Given the description of an element on the screen output the (x, y) to click on. 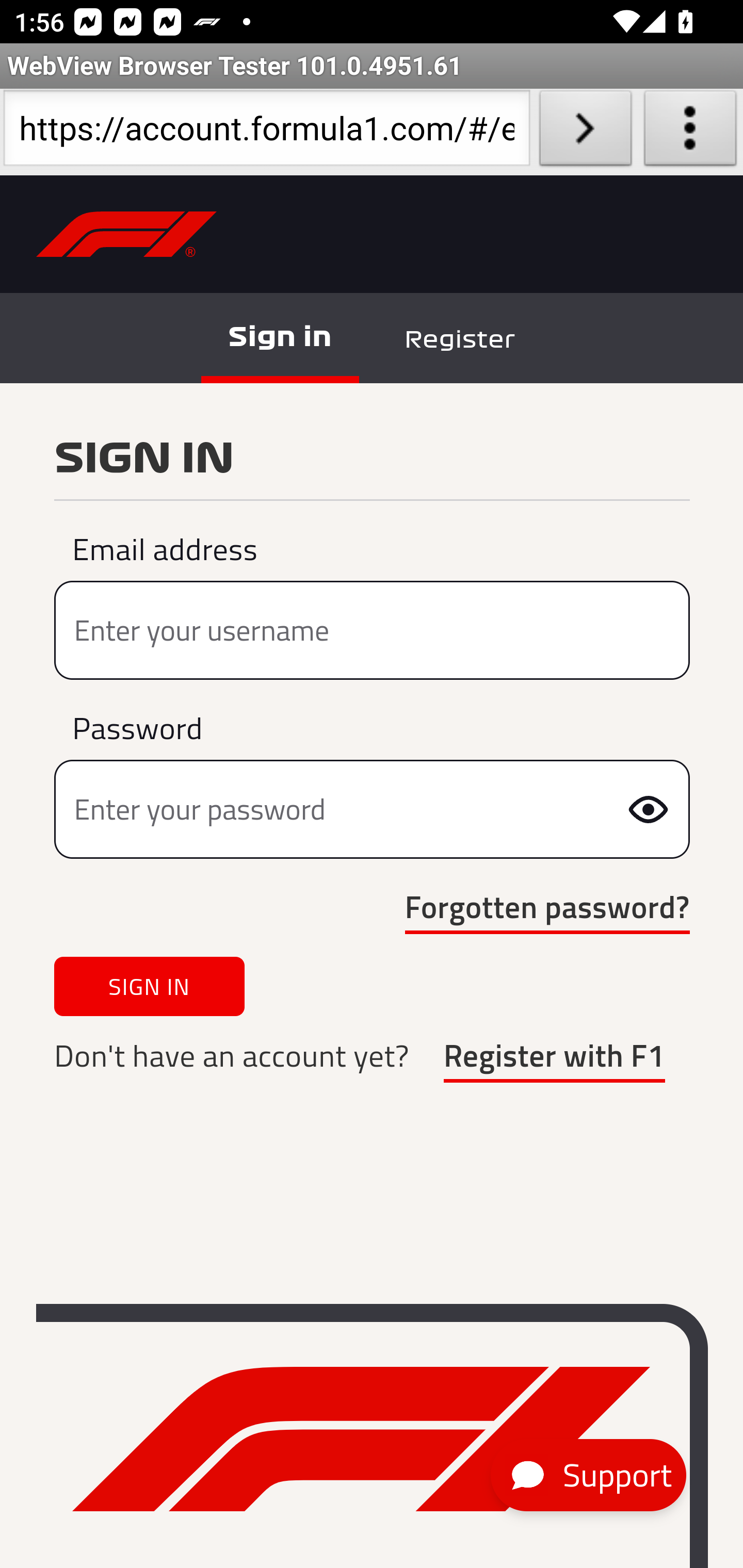
Load URL (585, 132)
About WebView (690, 132)
Formula1 (127, 234)
Sign in (280, 337)
Register (459, 340)
Forgotten password? (547, 908)
SIGN IN (149, 985)
Register with F1 (554, 1057)
Formula1 (361, 1440)
Support (588, 1476)
